Given the description of an element on the screen output the (x, y) to click on. 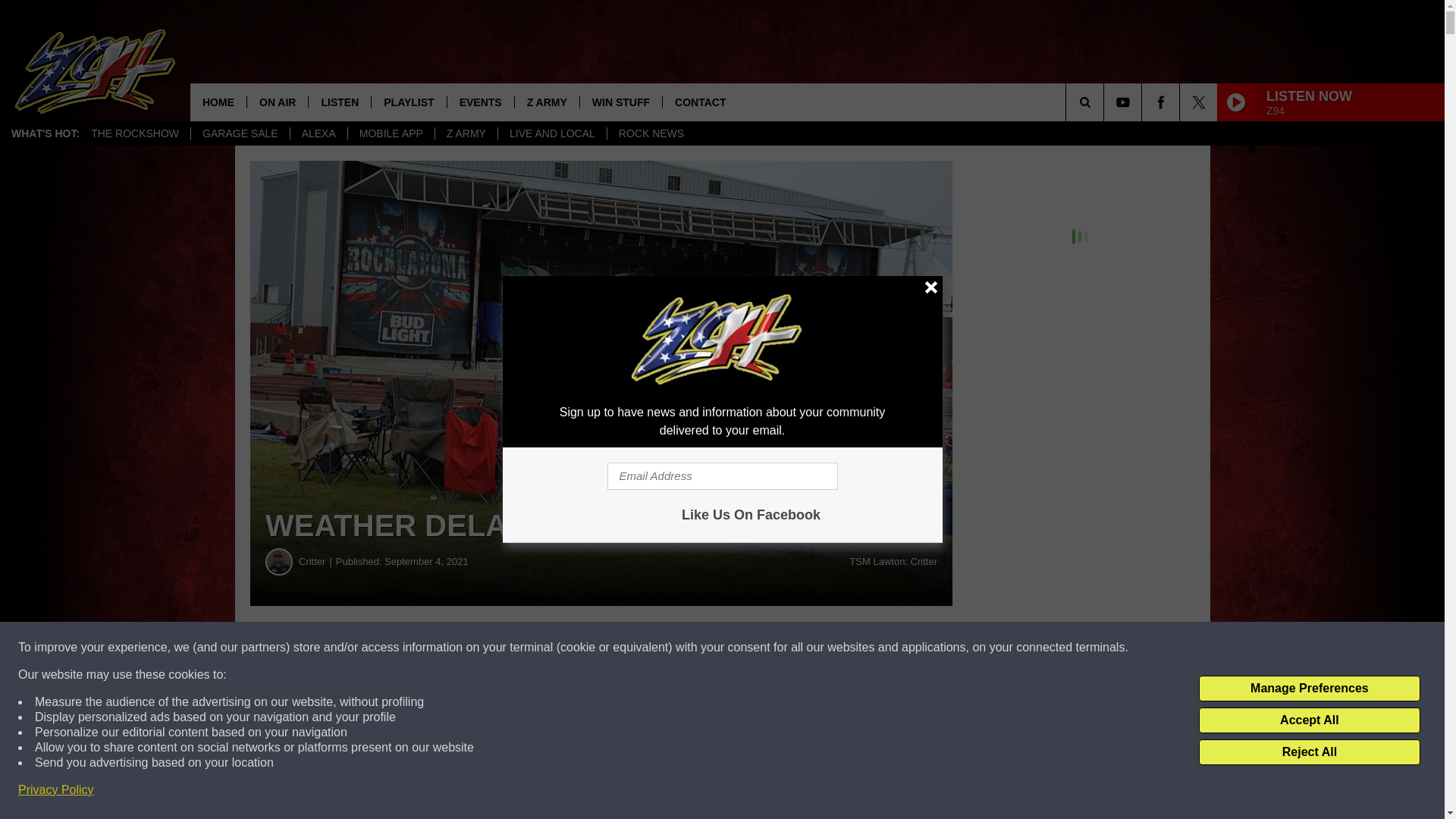
WIN STUFF (620, 102)
Manage Preferences (1309, 688)
Accept All (1309, 720)
THE ROCKSHOW (135, 133)
Privacy Policy (55, 789)
Share on Twitter (741, 647)
EVENTS (479, 102)
HOME (218, 102)
ON AIR (276, 102)
Email Address (722, 475)
SEARCH (1106, 102)
GARAGE SALE (239, 133)
ROCK NEWS (651, 133)
LIVE AND LOCAL (552, 133)
Reject All (1309, 751)
